Given the description of an element on the screen output the (x, y) to click on. 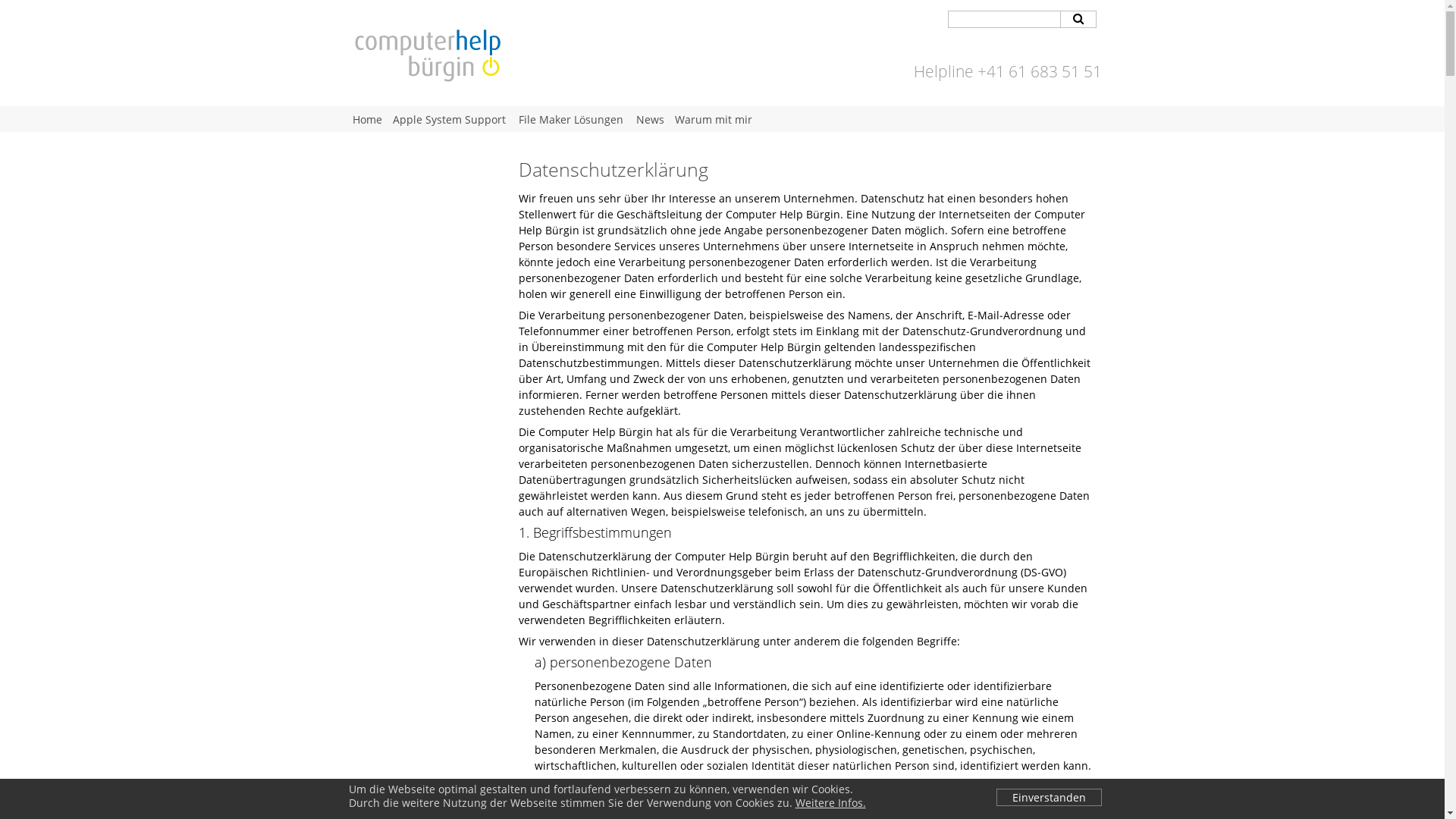
Home Element type: text (367, 118)
Apple System Support Element type: text (449, 118)
News Element type: text (649, 118)
Warum mit mir Element type: text (713, 118)
Weitere Infos. Element type: text (829, 802)
